Given the description of an element on the screen output the (x, y) to click on. 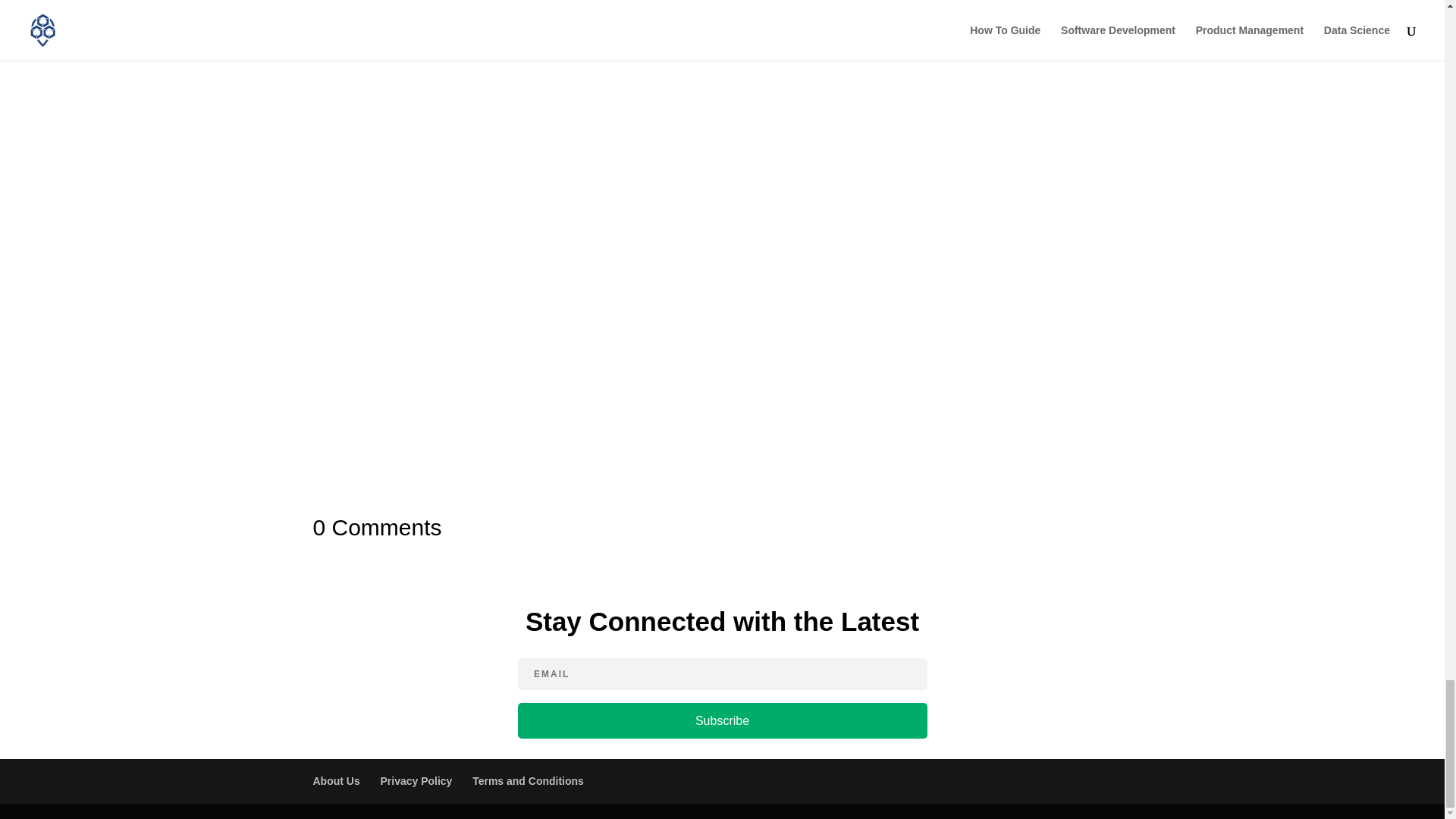
Privacy Policy (415, 780)
Terms and Conditions (527, 780)
Subscribe (721, 720)
About Us (336, 780)
